Given the description of an element on the screen output the (x, y) to click on. 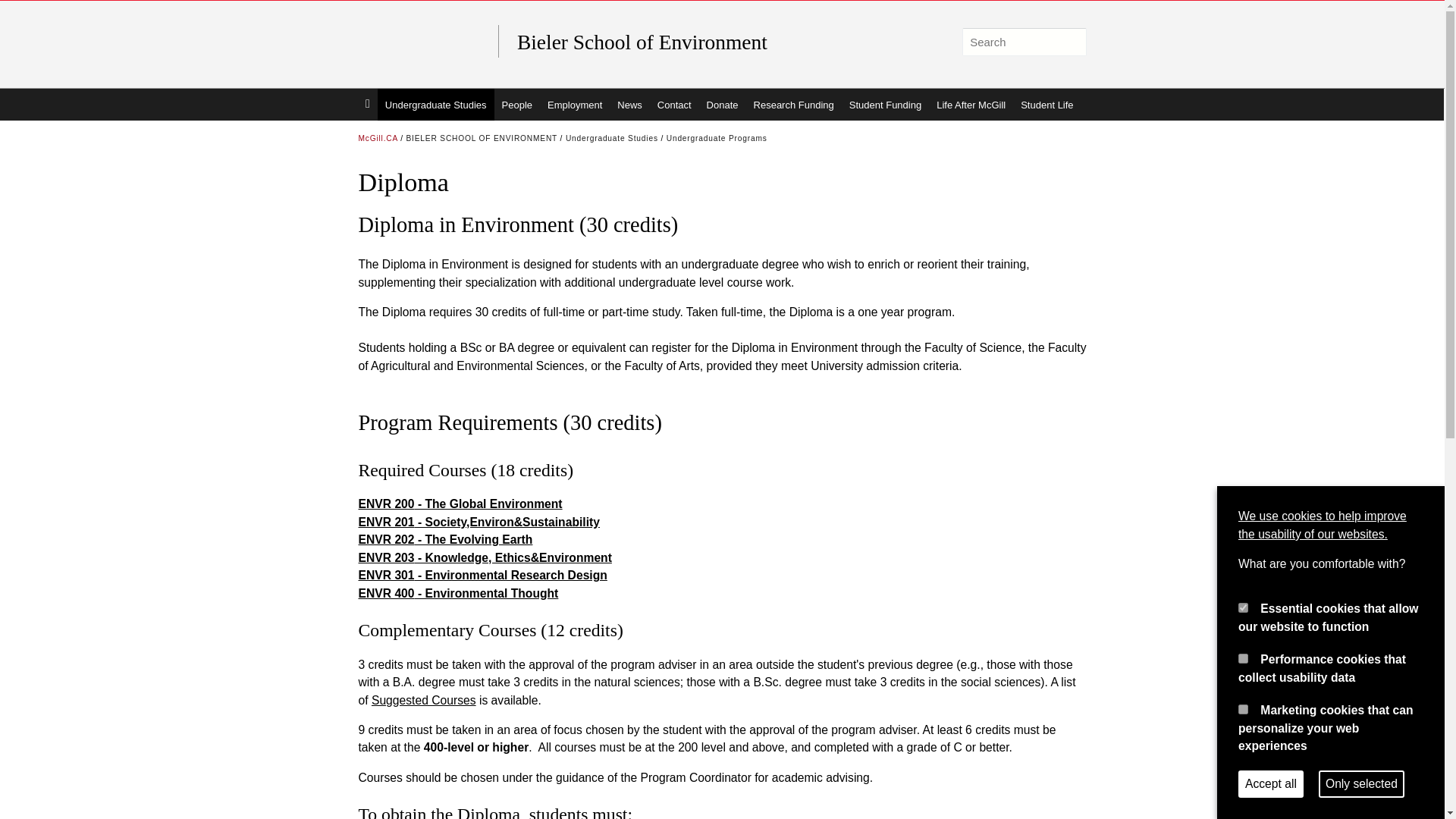
ENVR 301 - Environmental Research Design (482, 574)
Undergraduate Studies (436, 104)
Contact (673, 104)
Search (1070, 42)
ENVR 400 - Environmental Thought (457, 593)
marketing (1243, 709)
Search (1070, 42)
ENVR 202 - The Evolving Earth (445, 539)
Research Funding (793, 104)
